Given the description of an element on the screen output the (x, y) to click on. 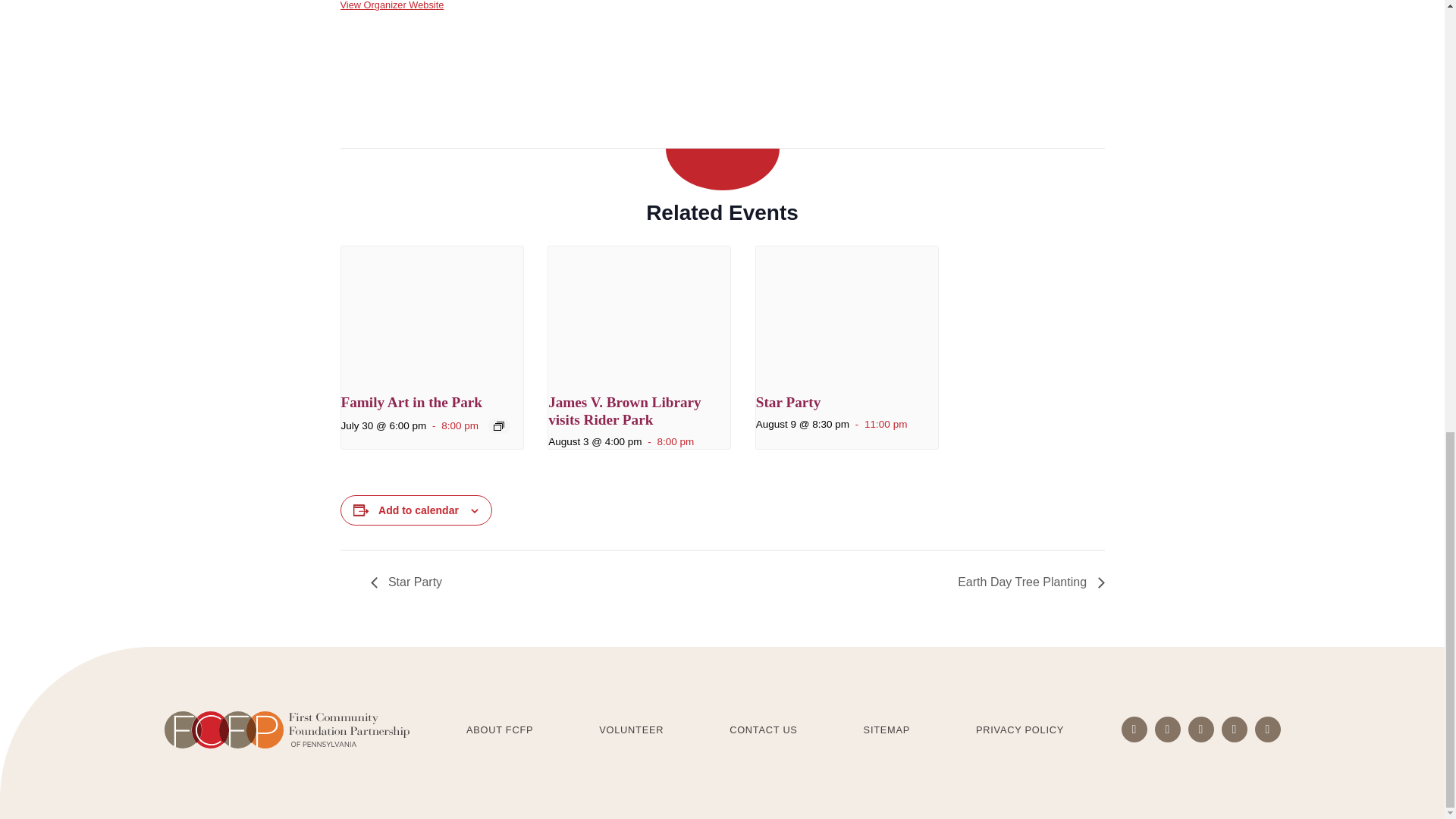
Event Series (498, 425)
